Given the description of an element on the screen output the (x, y) to click on. 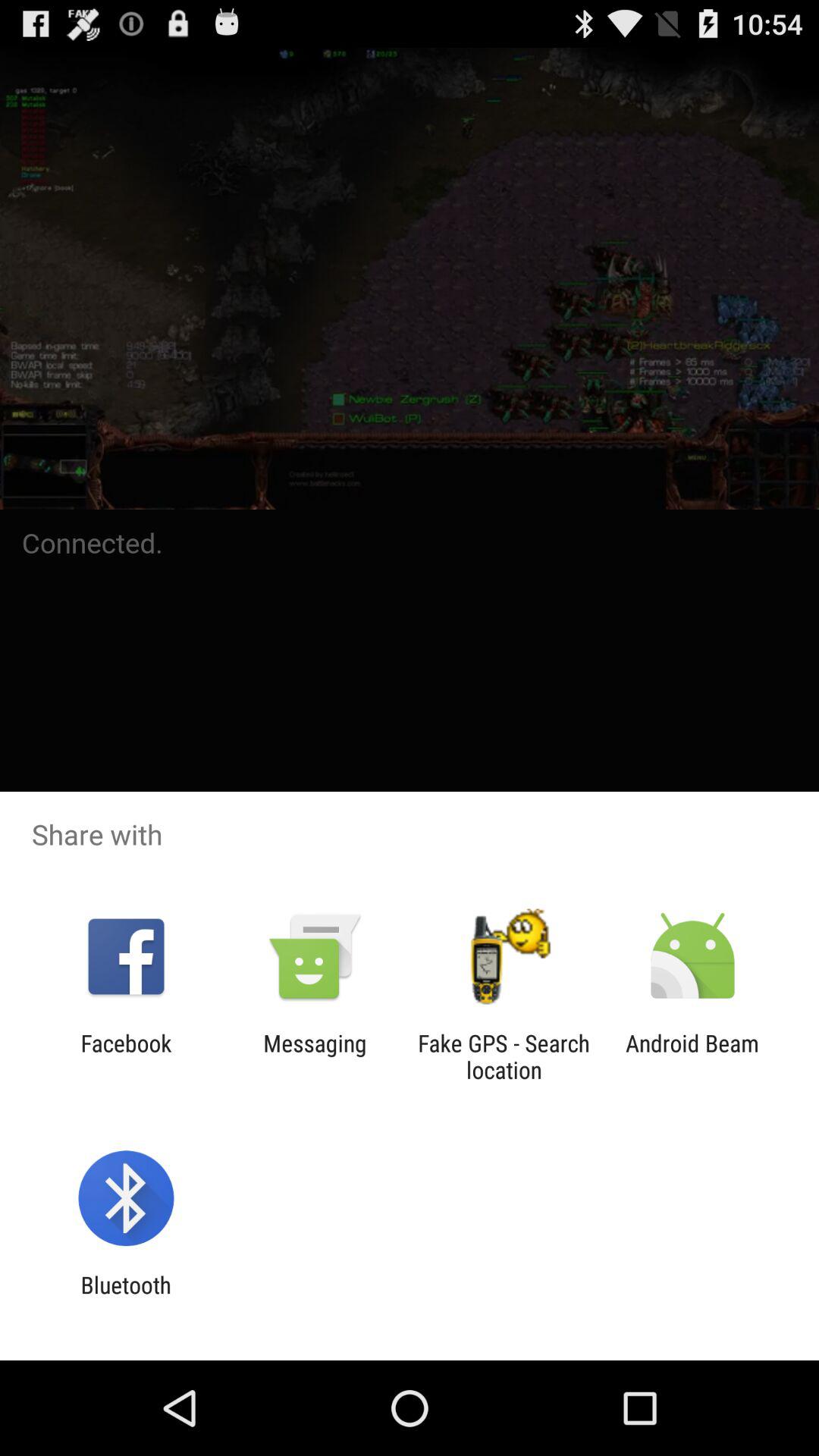
launch icon to the right of facebook (314, 1056)
